Given the description of an element on the screen output the (x, y) to click on. 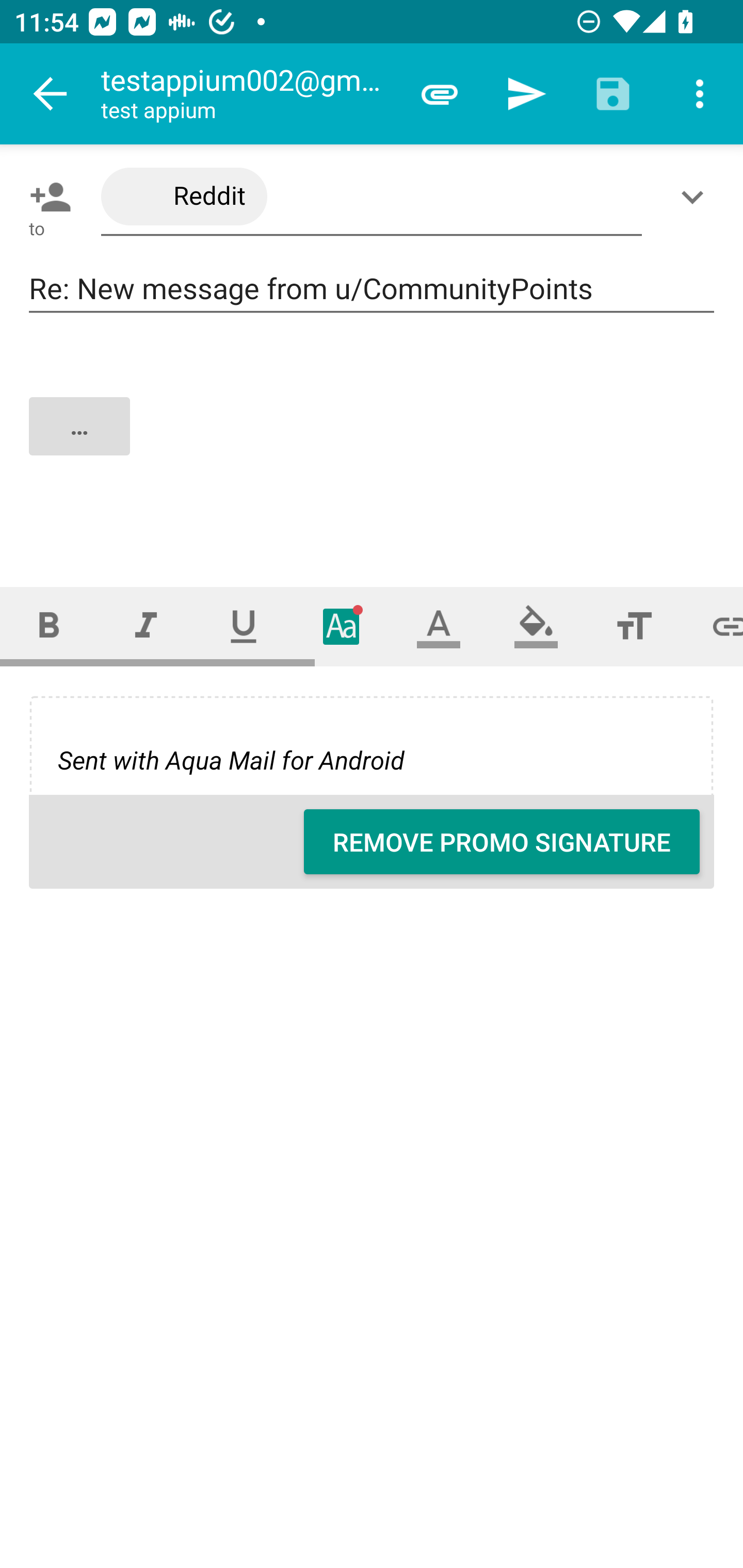
Navigate up (50, 93)
testappium002@gmail.com test appium (248, 93)
Attach (439, 93)
Send (525, 93)
Save (612, 93)
More options (699, 93)
Reddit <noreply@redditmail.com>,  (371, 197)
Pick contact: To (46, 196)
Show/Add CC/BCC (696, 196)
Re: New message from u/CommunityPoints (371, 288)

…
 (372, 442)
Bold (48, 626)
Italic (145, 626)
Underline (243, 626)
Typeface (font) (341, 626)
Text color (438, 626)
Fill color (536, 626)
Font size (633, 626)
Set link (712, 626)
REMOVE PROMO SIGNATURE (501, 841)
